Given the description of an element on the screen output the (x, y) to click on. 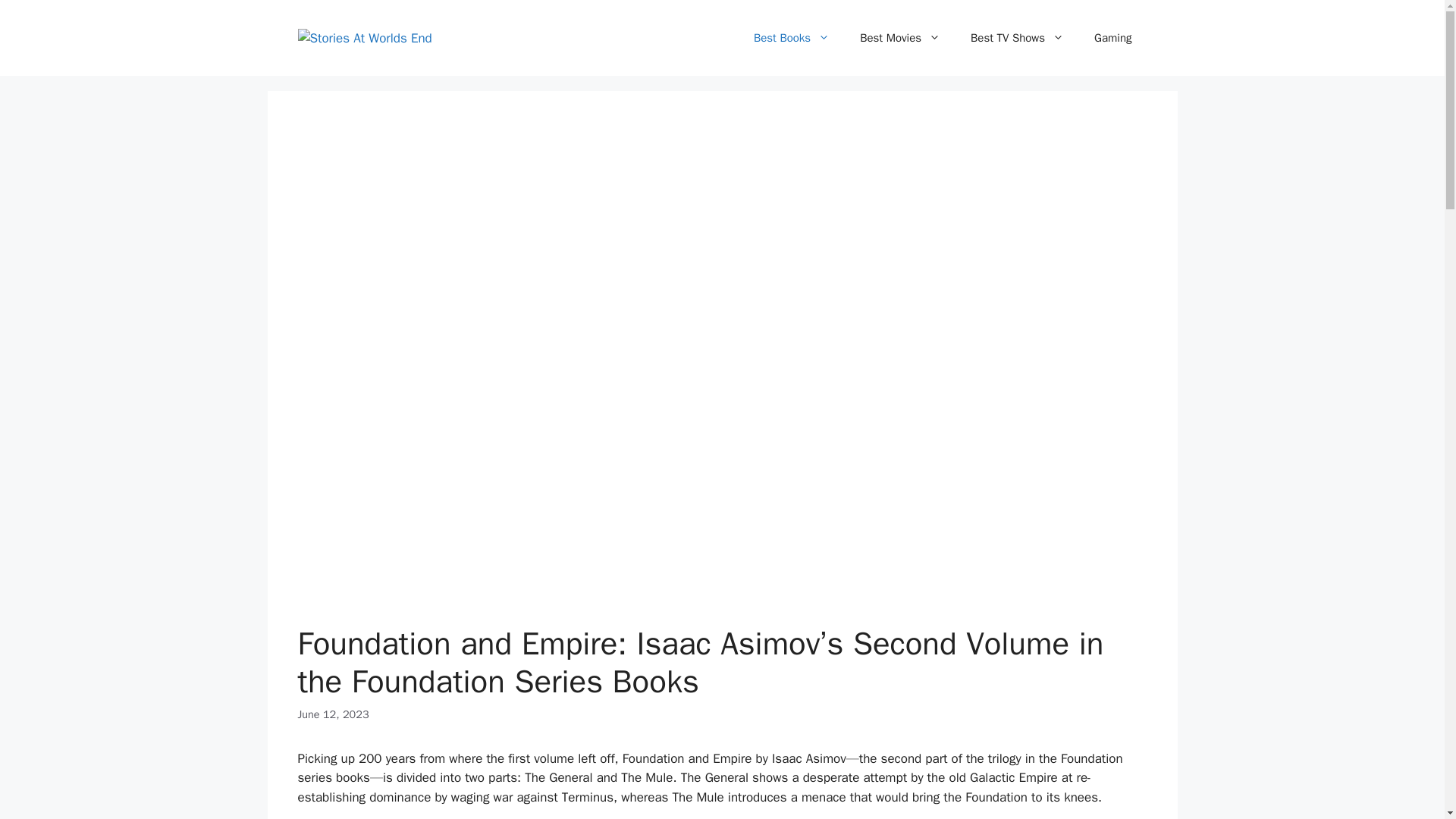
Best Movies (899, 37)
Best Books (791, 37)
Best TV Shows (1016, 37)
Gaming (1112, 37)
